Given the description of an element on the screen output the (x, y) to click on. 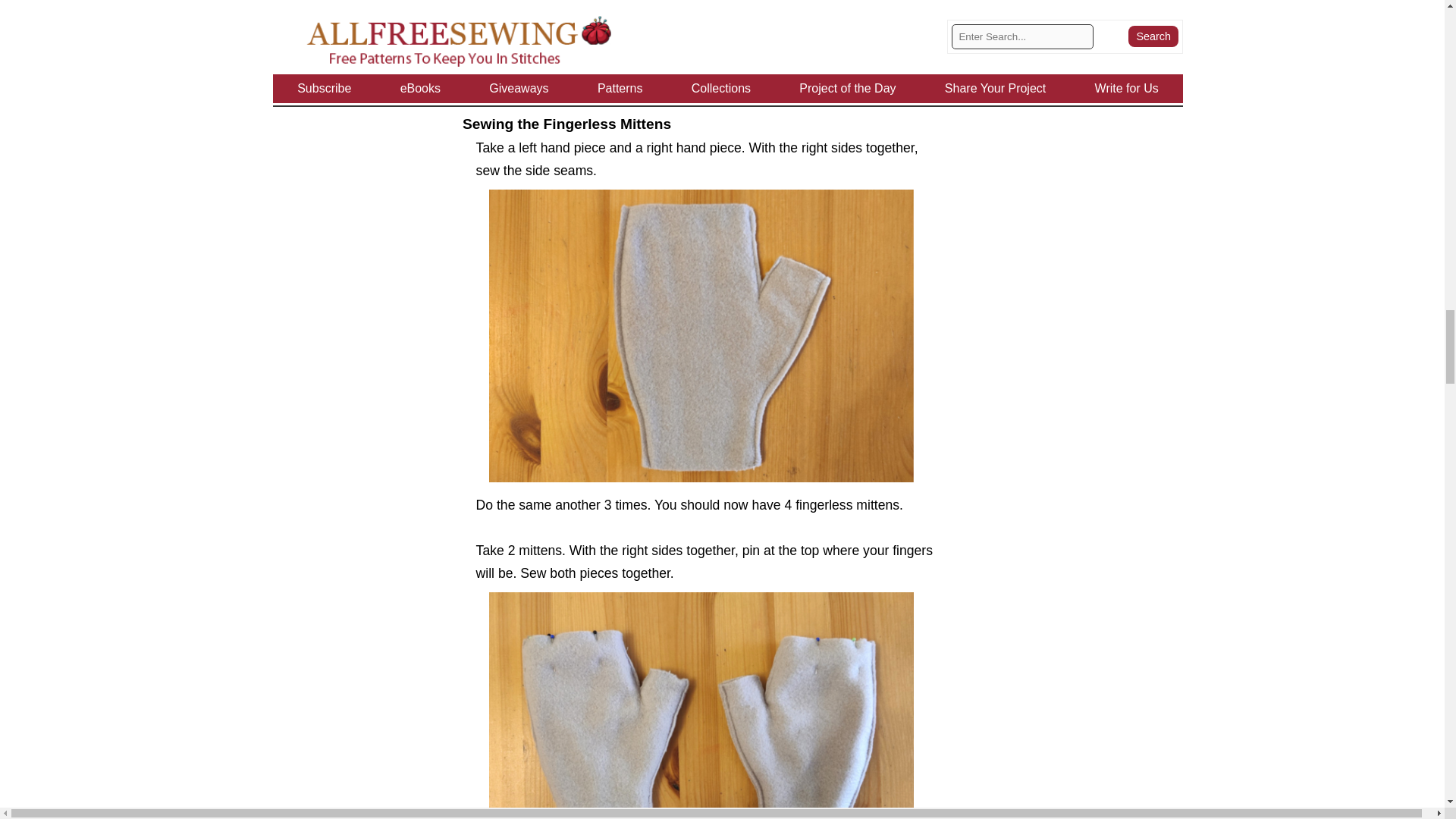
Lace Edged Fingerless Gloves - one sewn glove (701, 335)
Lace Edged Fingerless Gloves - both sewn gloves (701, 705)
